Given the description of an element on the screen output the (x, y) to click on. 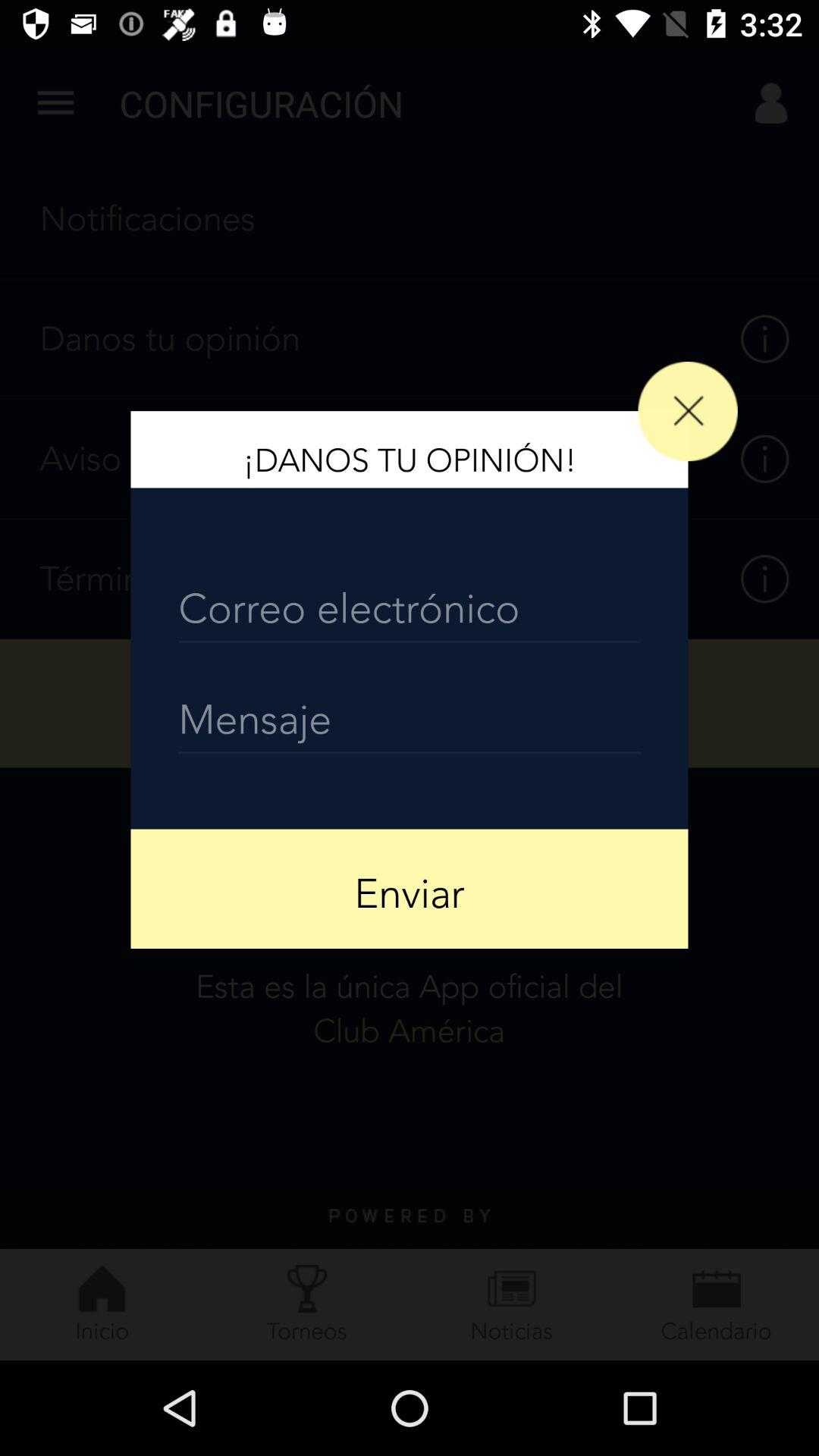
launch icon at the top right corner (687, 411)
